Given the description of an element on the screen output the (x, y) to click on. 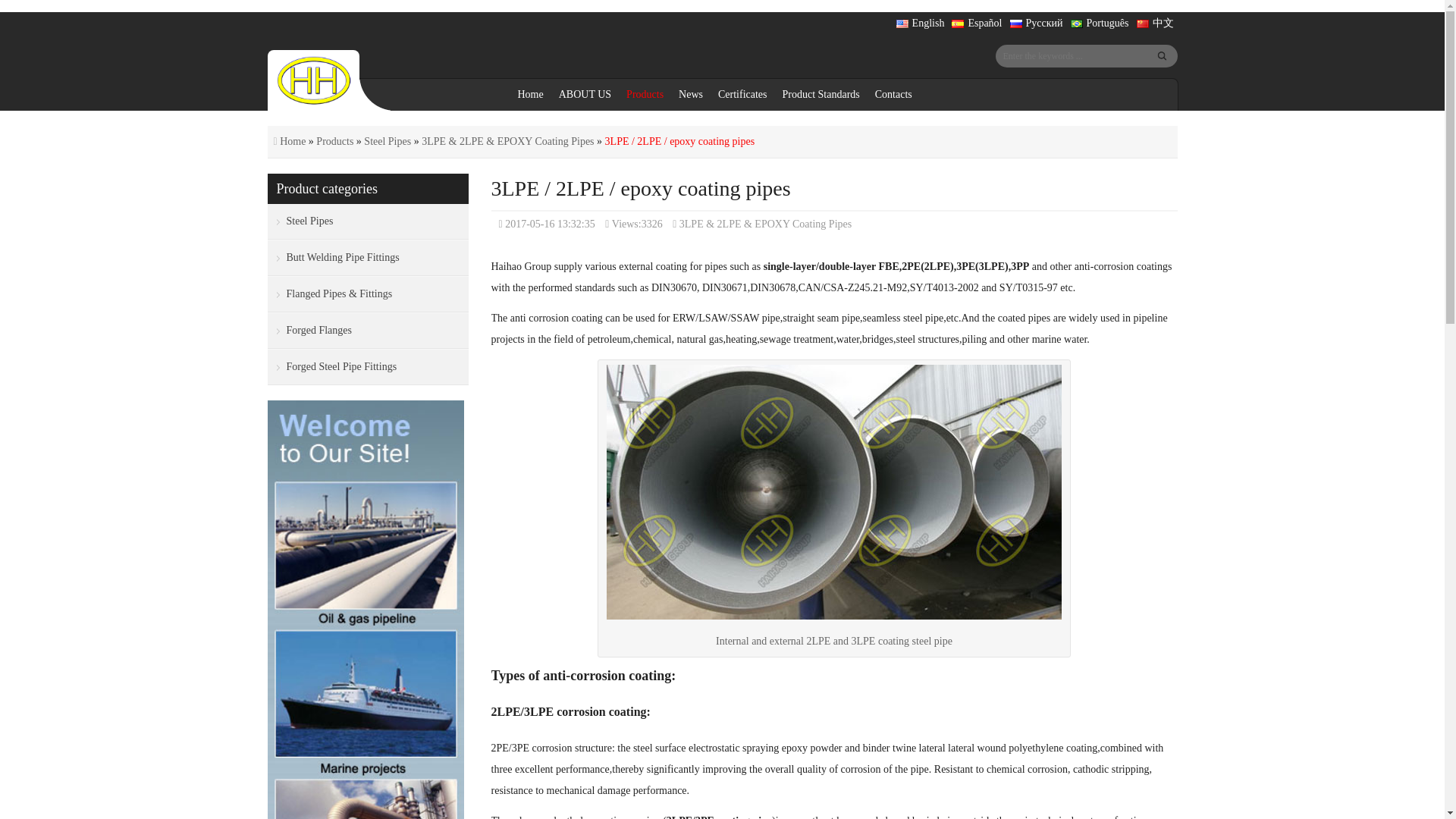
News (690, 94)
ABOUT US (584, 94)
English (920, 23)
Search (1161, 56)
Product Standards (820, 94)
Products (644, 94)
Home (529, 94)
Certificates (742, 94)
